Given the description of an element on the screen output the (x, y) to click on. 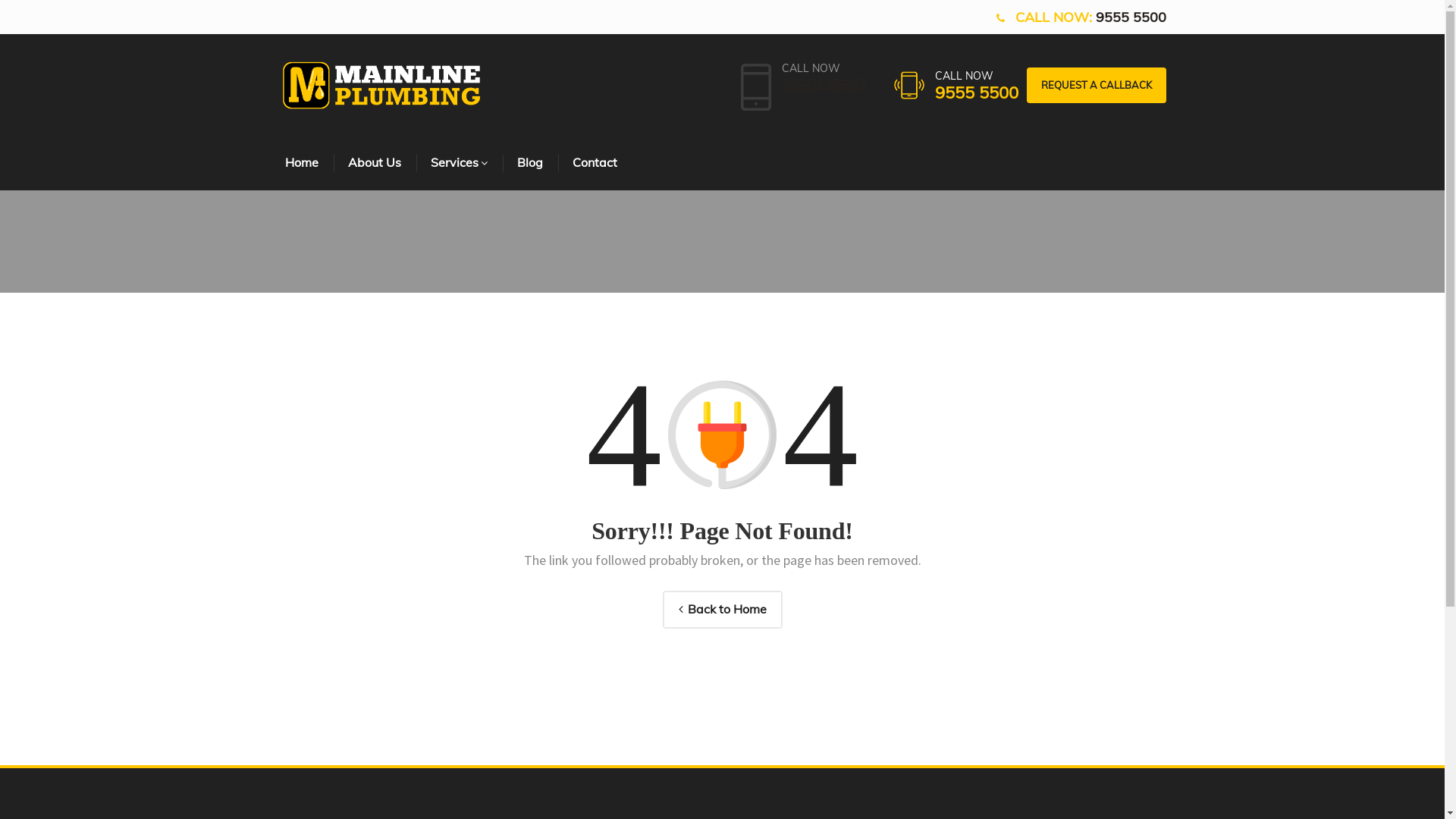
About Us Element type: text (375, 163)
Back to Home Element type: text (722, 609)
9555 5500 Element type: text (975, 92)
9555 5500 Element type: text (1129, 16)
Home Element type: text (302, 163)
Blog Element type: text (530, 163)
9555 5500 Element type: text (822, 84)
REQUEST A CALLBACK Element type: text (1096, 85)
Services Element type: text (460, 163)
Contact Element type: text (595, 163)
